Given the description of an element on the screen output the (x, y) to click on. 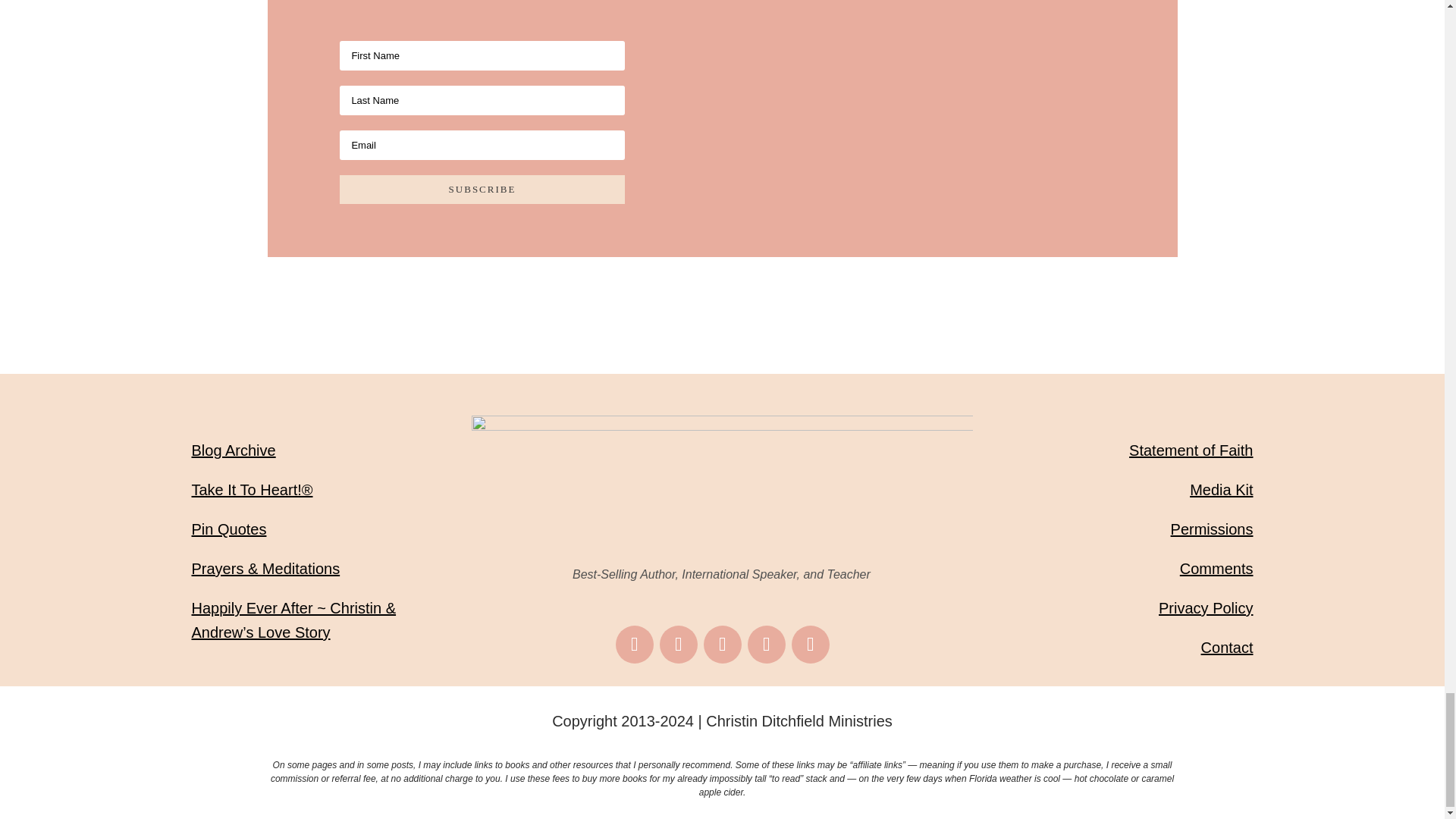
Follow on X (767, 644)
Follow on Instagram (678, 644)
Follow on Pinterest (722, 644)
Follow on Facebook (634, 644)
Christin Ditchfield LS (722, 486)
